Given the description of an element on the screen output the (x, y) to click on. 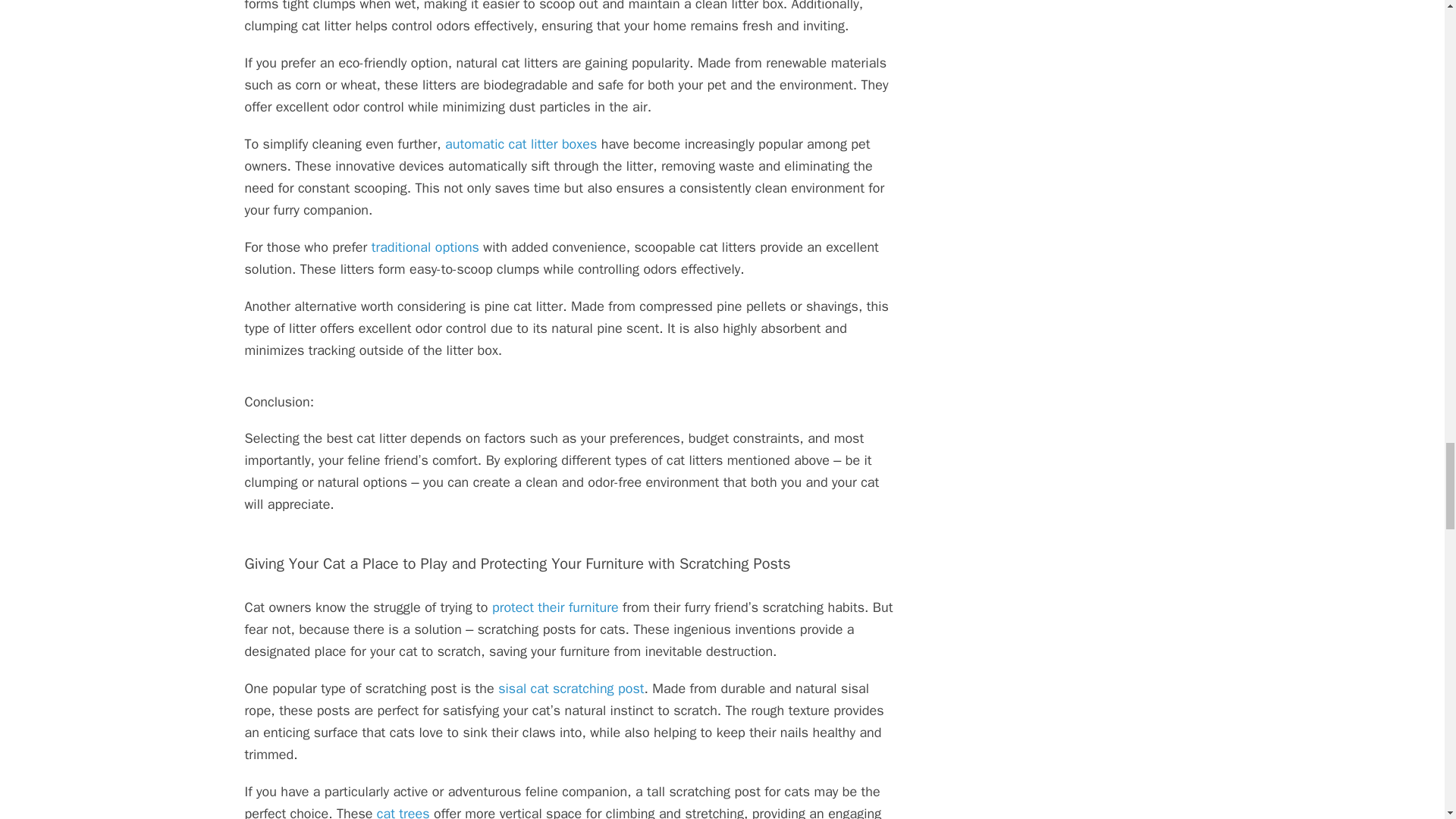
cat trees (403, 812)
protect their furniture (555, 606)
traditional options (425, 247)
automatic cat litter boxes (520, 143)
sisal cat scratching post (570, 688)
